Given the description of an element on the screen output the (x, y) to click on. 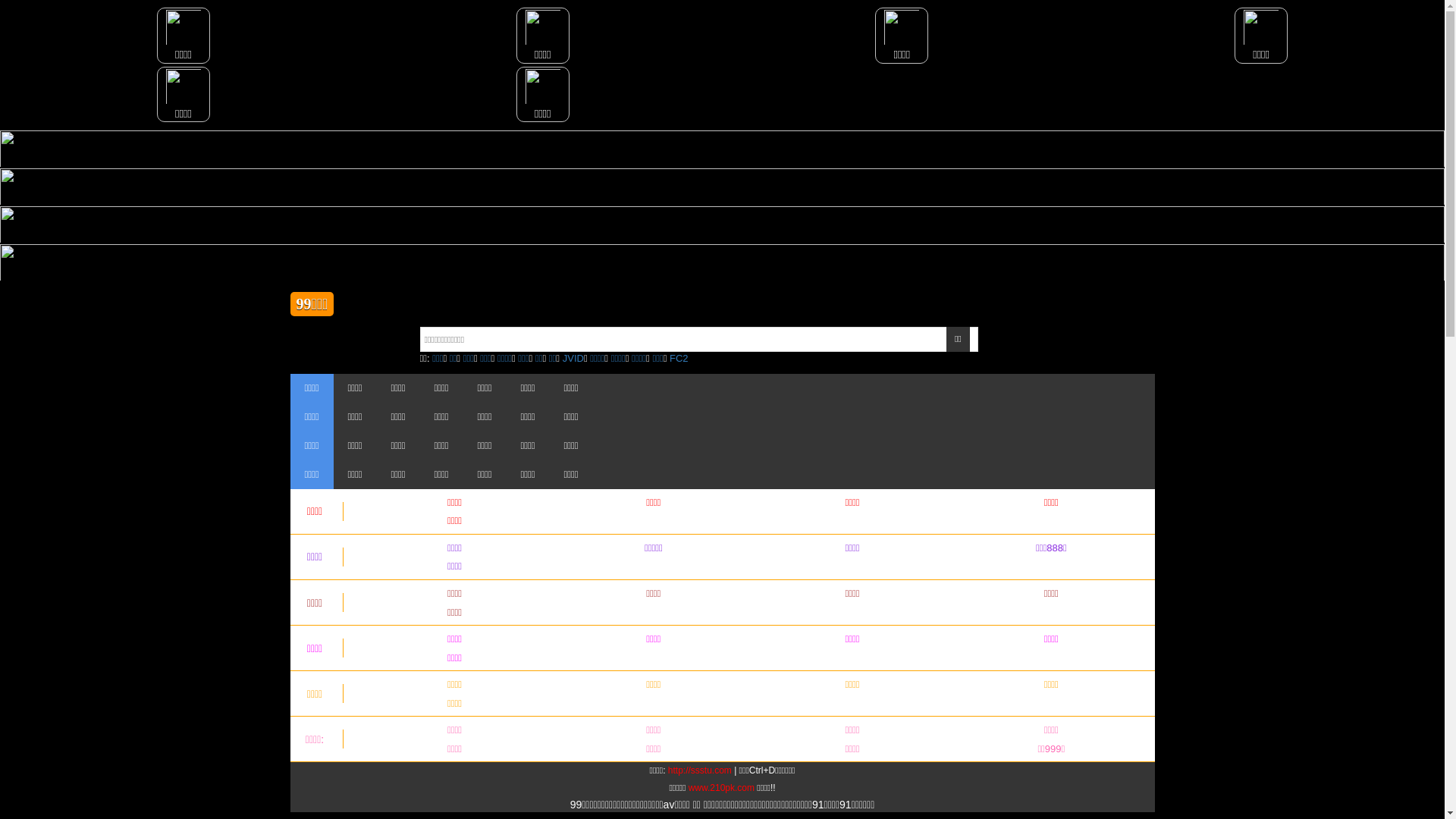
JVID Element type: text (572, 358)
FC2 Element type: text (678, 358)
